Given the description of an element on the screen output the (x, y) to click on. 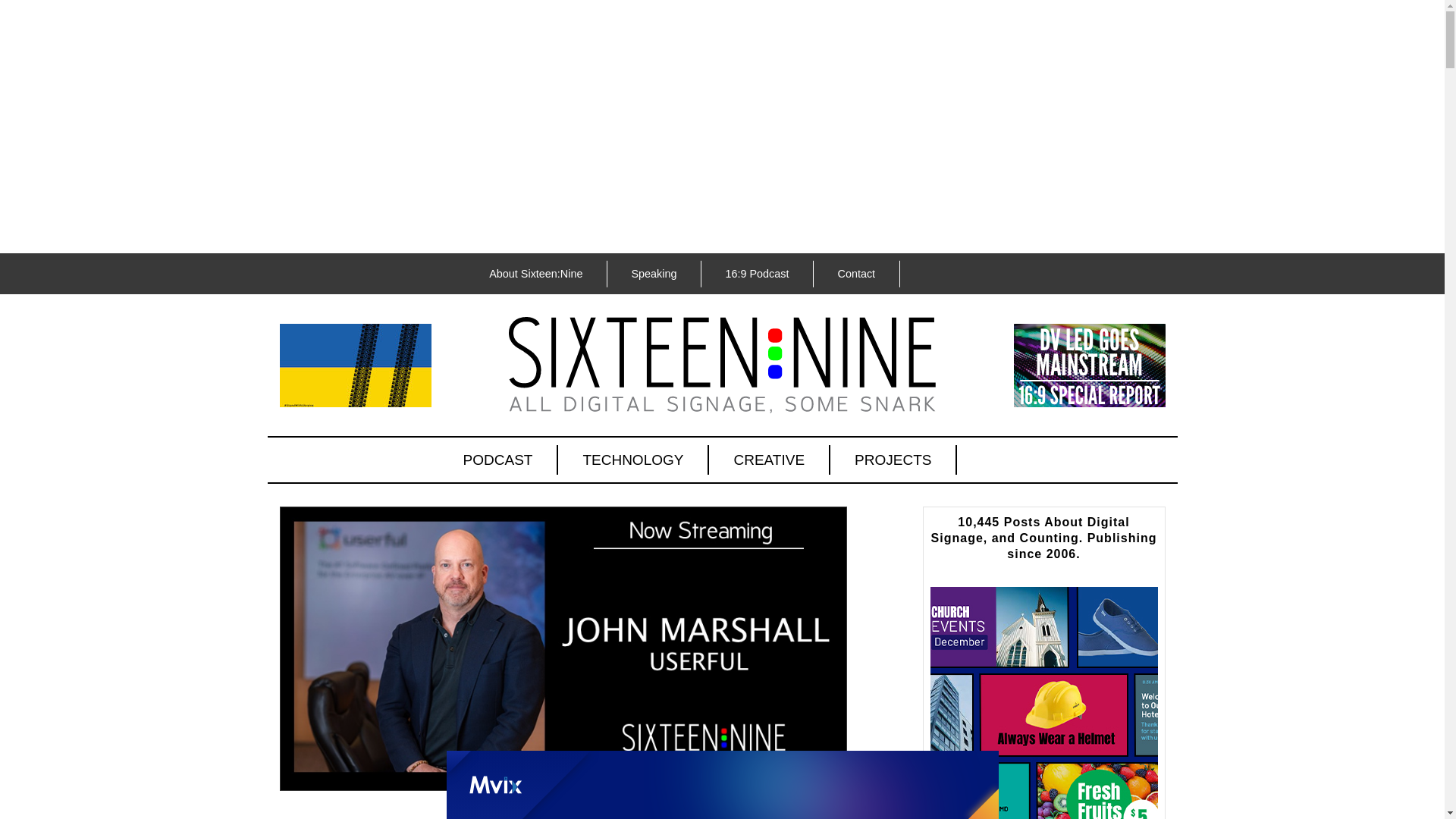
Speaking (653, 273)
TECHNOLOGY (633, 460)
Contact (855, 273)
PROJECTS (892, 460)
PODCAST (499, 460)
About Sixteen:Nine (535, 273)
CREATIVE (769, 460)
16:9 Podcast (756, 273)
